Given the description of an element on the screen output the (x, y) to click on. 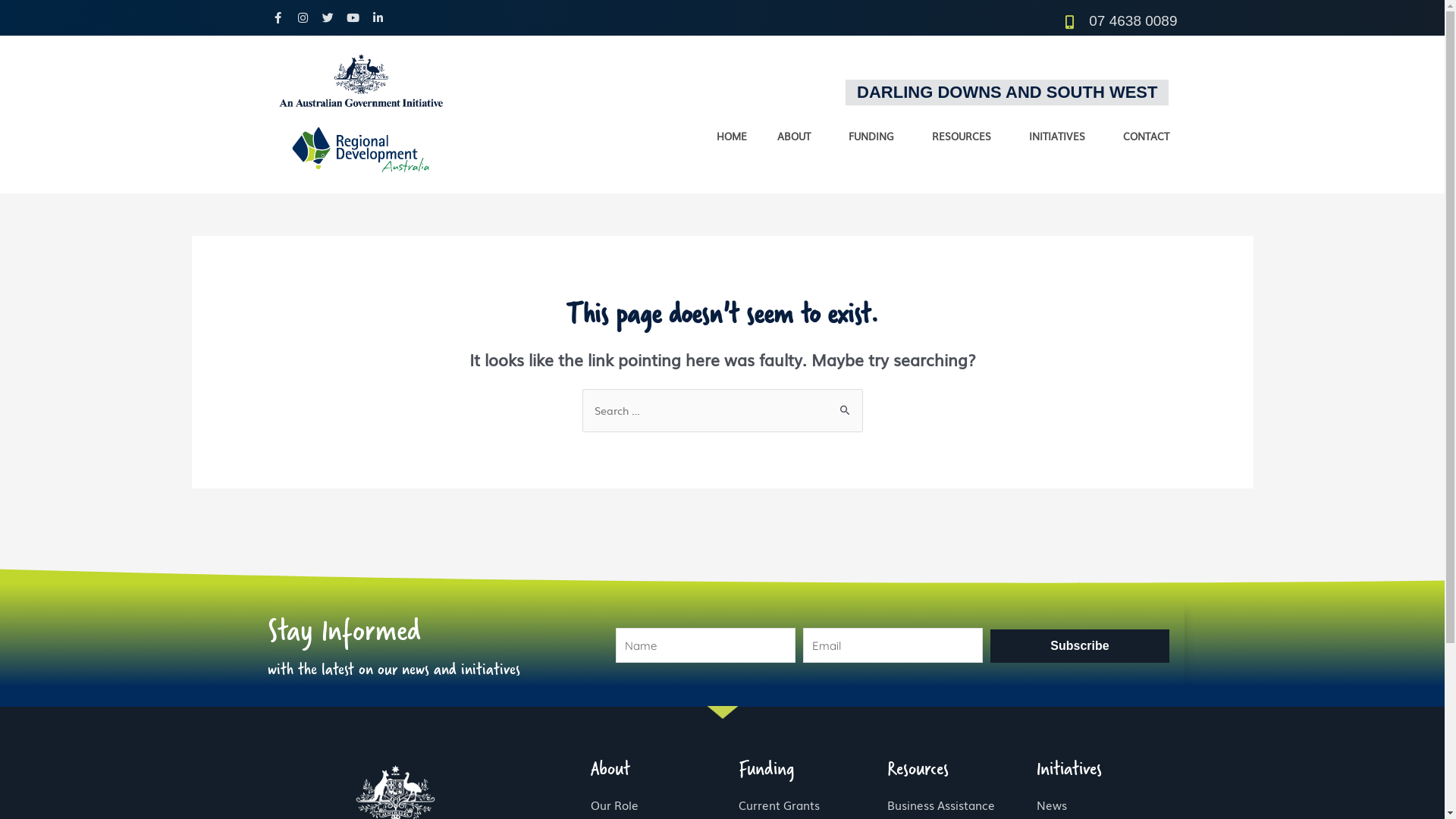
CONTACT Element type: text (1145, 135)
Twitter Element type: text (326, 17)
FUNDING Element type: text (874, 135)
Subscribe Element type: text (1080, 645)
INITIATIVES Element type: text (1060, 135)
Our Role Element type: text (664, 804)
News Element type: text (1110, 804)
Instagram Element type: text (302, 17)
HOME Element type: text (731, 135)
ABOUT Element type: text (797, 135)
07 4638 0089 Element type: text (952, 21)
Business Assistance Element type: text (962, 804)
Facebook-f Element type: text (276, 17)
Search Element type: text (845, 404)
Linkedin-in Element type: text (377, 17)
Current Grants Element type: text (812, 804)
DARLING DOWNS AND SOUTH WEST Element type: text (1006, 91)
RESOURCES Element type: text (964, 135)
Youtube Element type: text (352, 17)
